Given the description of an element on the screen output the (x, y) to click on. 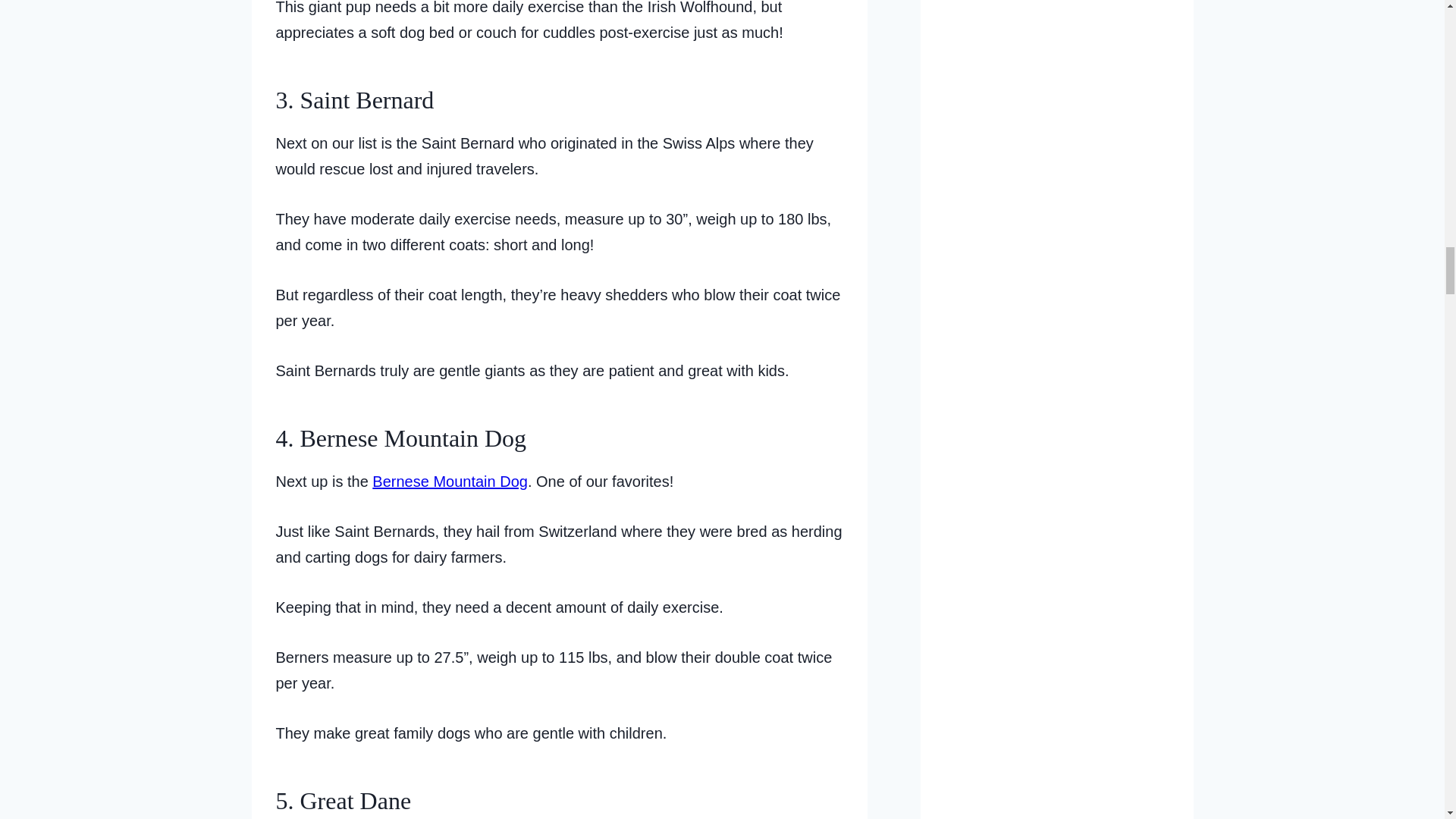
Bernese Mountain Dog (449, 481)
